Given the description of an element on the screen output the (x, y) to click on. 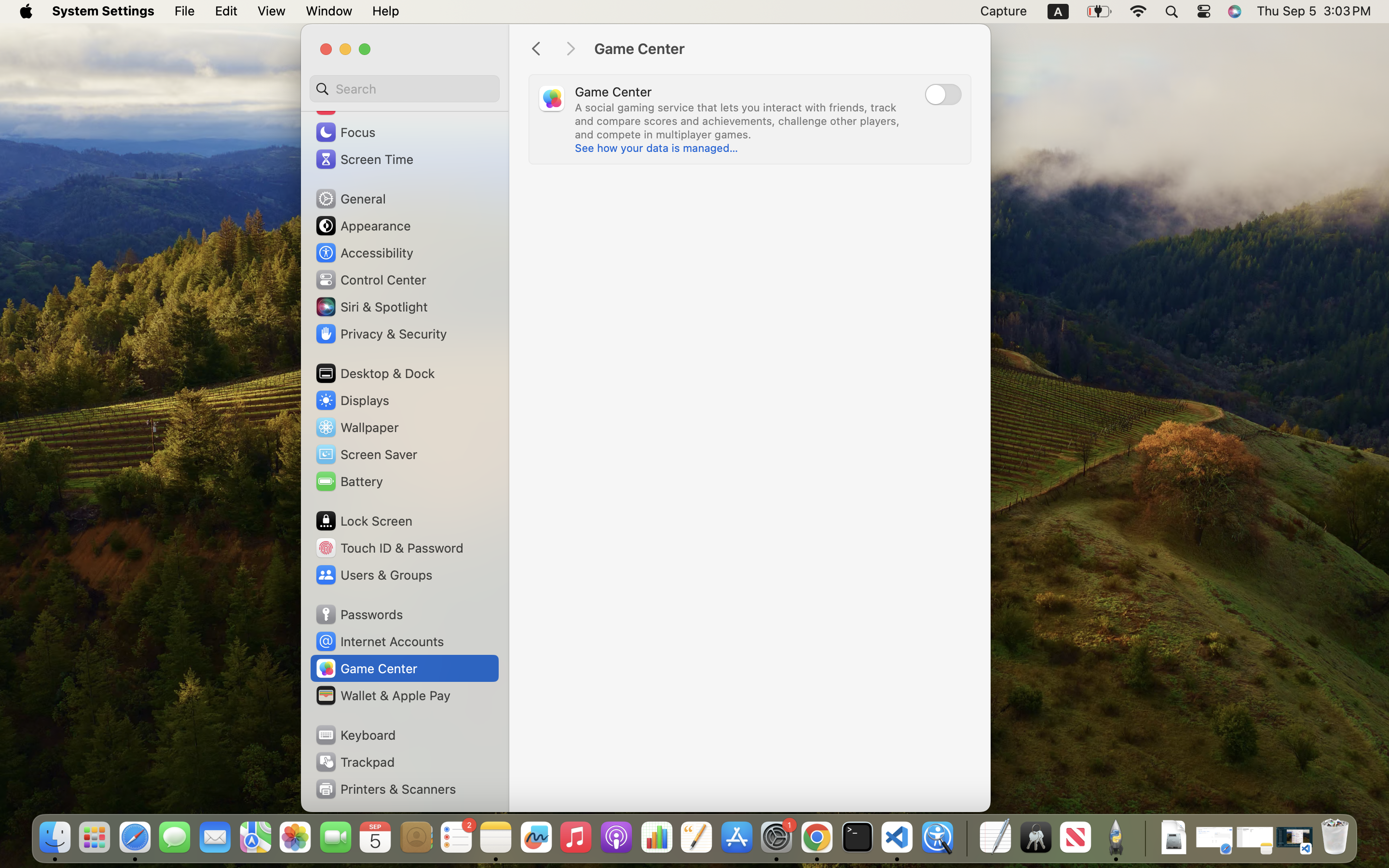
Focus Element type: AXStaticText (344, 131)
Touch ID & Password Element type: AXStaticText (388, 547)
Battery Element type: AXStaticText (348, 480)
Screen Time Element type: AXStaticText (363, 158)
Accessibility Element type: AXStaticText (363, 252)
